Given the description of an element on the screen output the (x, y) to click on. 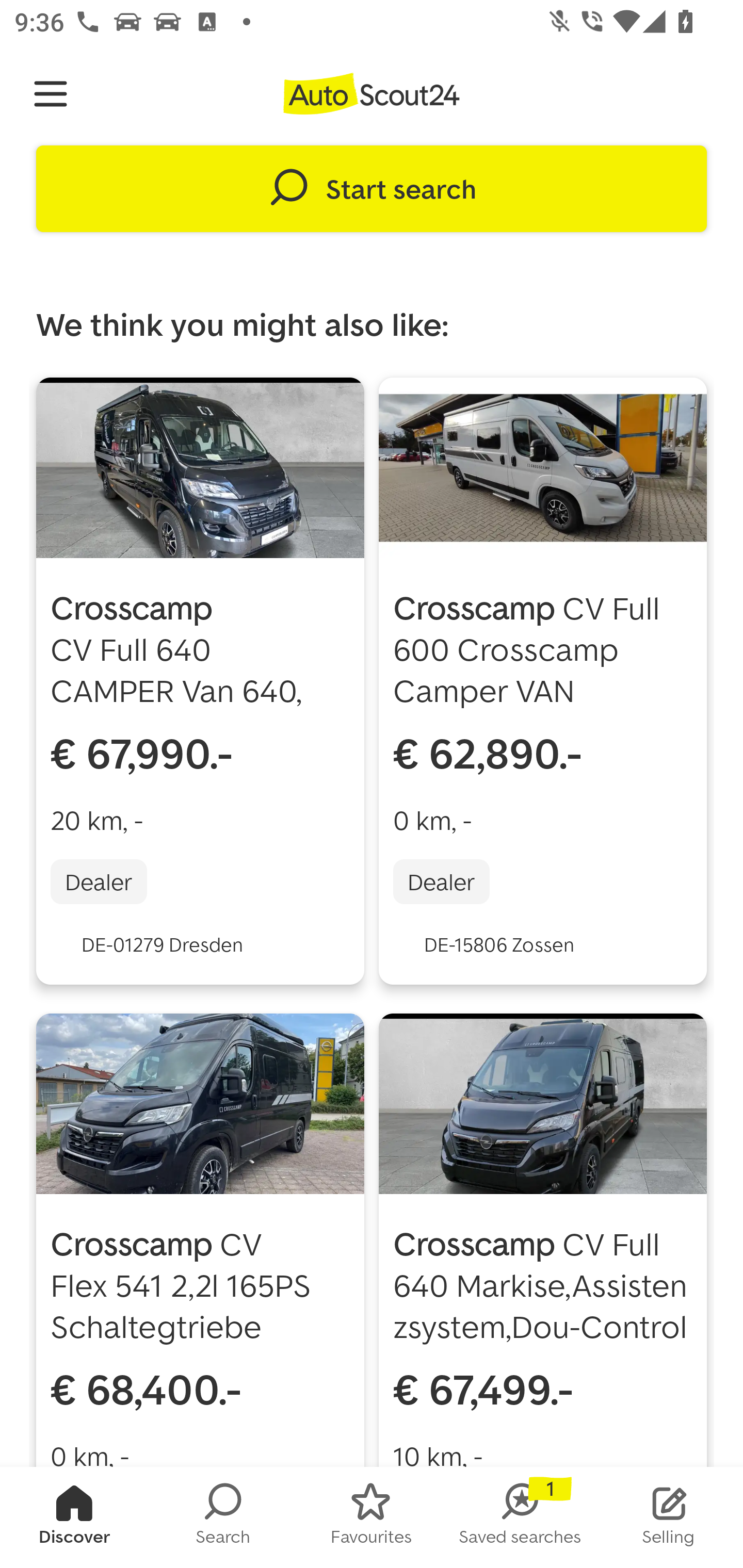
Navigate up (50, 93)
Start search (371, 188)
HOMESCREEN Discover (74, 1517)
SEARCH Search (222, 1517)
FAVORITES Favourites (371, 1517)
SAVED_SEARCHES Saved searches 1 (519, 1517)
STOCK_LIST Selling (668, 1517)
